Given the description of an element on the screen output the (x, y) to click on. 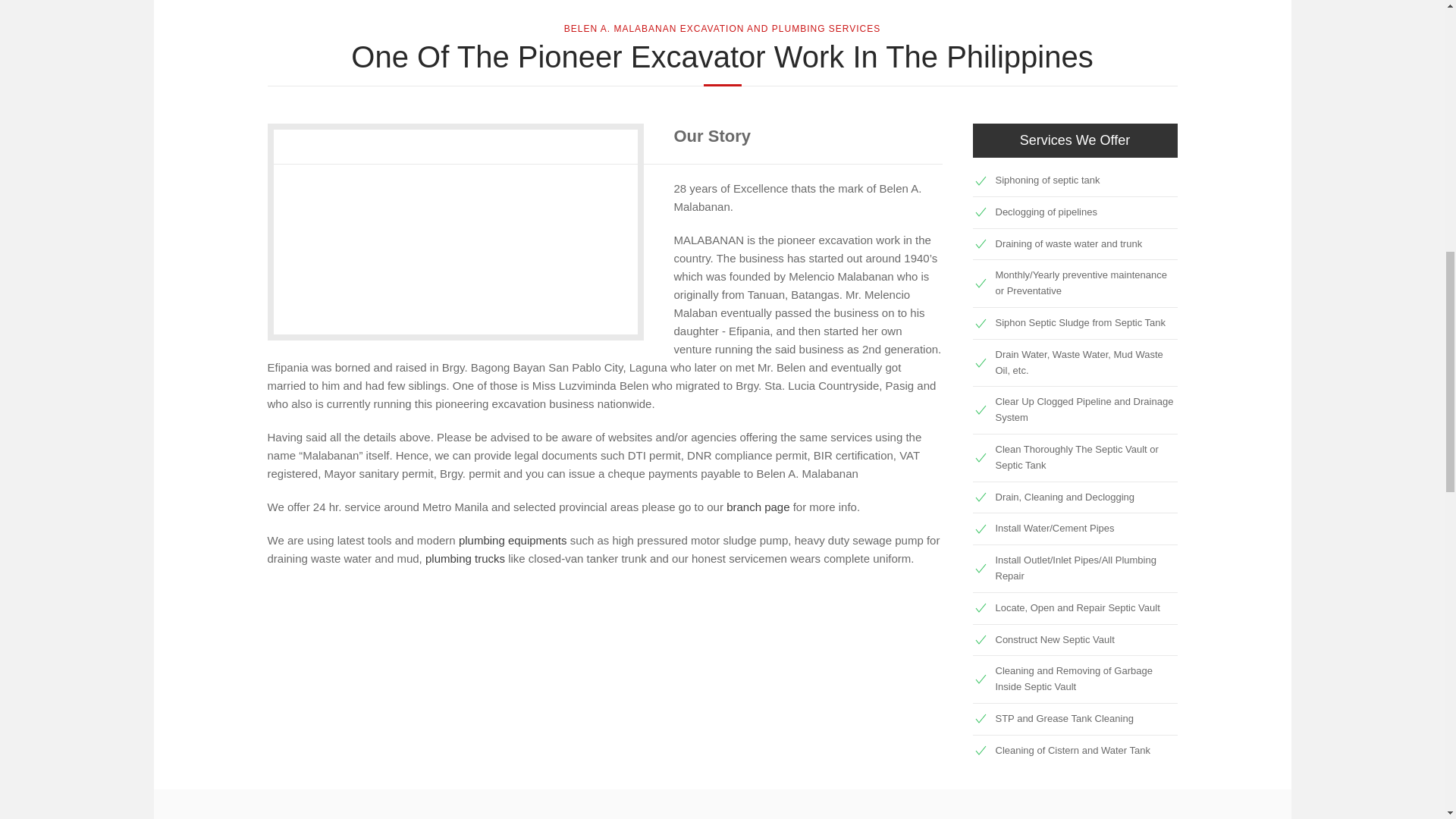
plumbing trucks (465, 558)
branch page (757, 506)
plumbing equipments (512, 540)
